Given the description of an element on the screen output the (x, y) to click on. 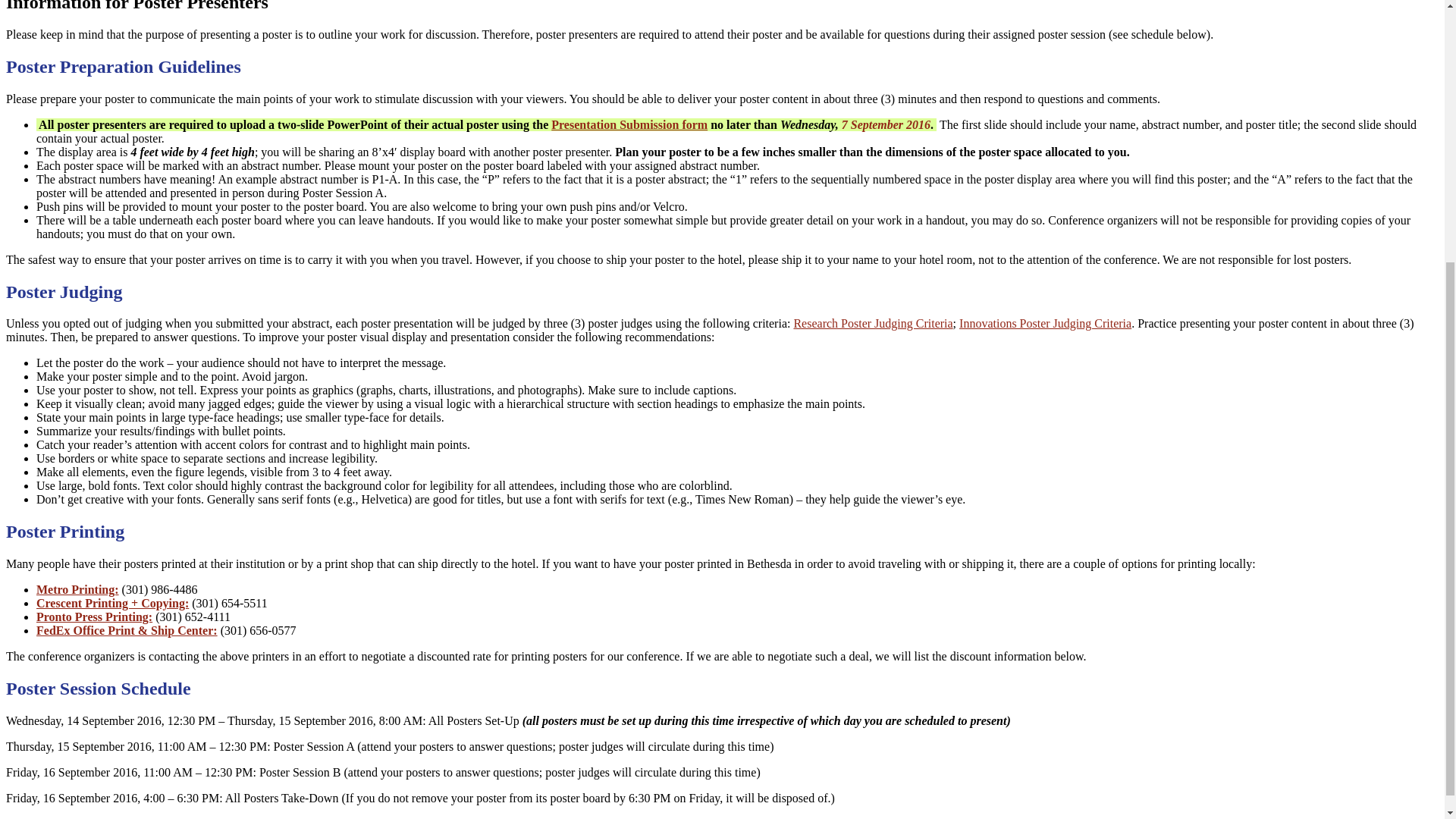
Presentation Submission form (629, 124)
Innovations Poster Judging Criteria (1045, 323)
Pronto Press Printing: (94, 616)
Metro Printing: (77, 589)
Research Poster Judging Criteria (872, 323)
